Given the description of an element on the screen output the (x, y) to click on. 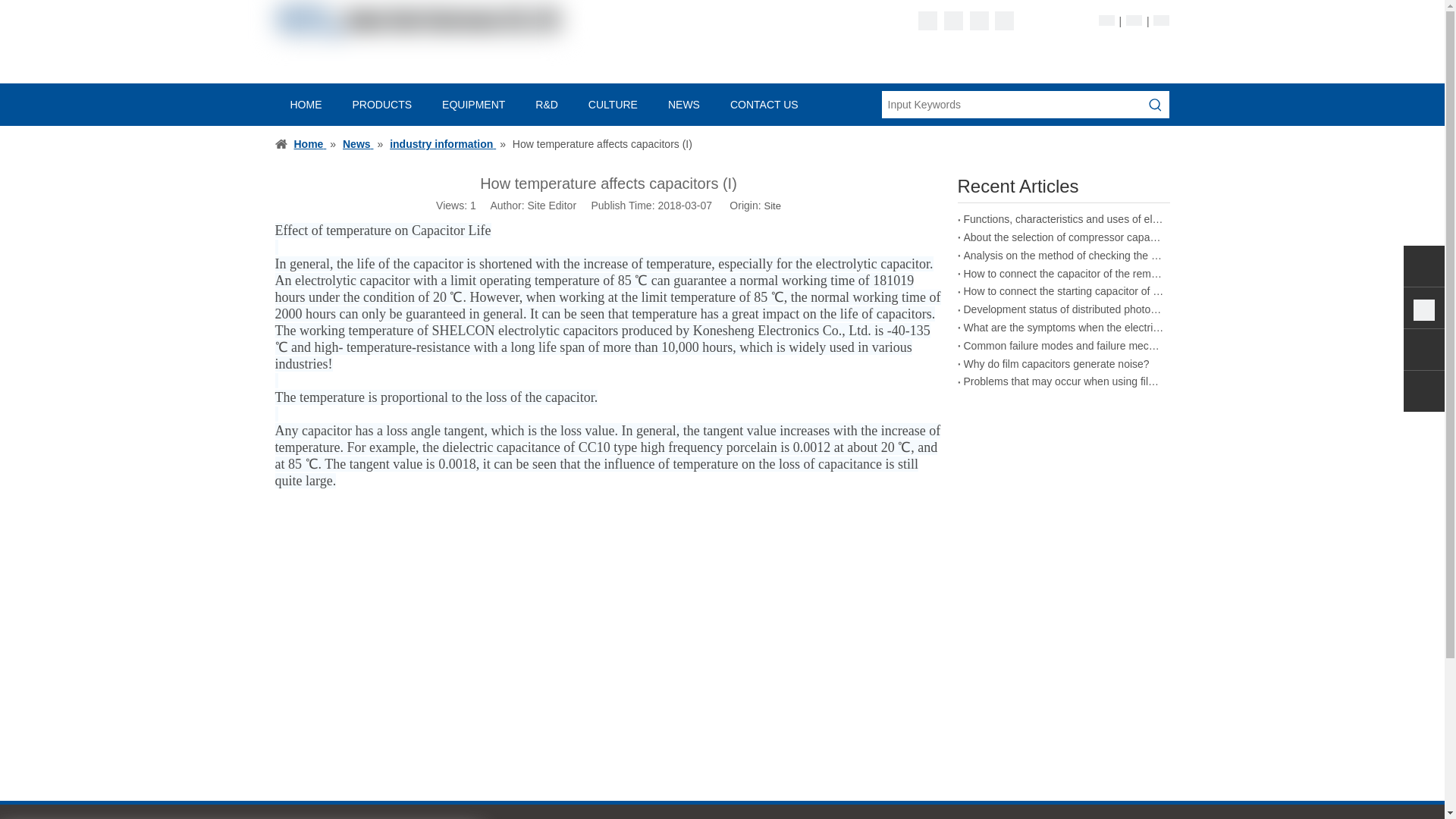
Twitter (978, 20)
NEWS (683, 103)
CONTACT US (763, 103)
EQUIPMENT (472, 103)
CULTURE (612, 103)
Youtube (1003, 20)
Analysis on the method of checking the compressor capacitor (1062, 256)
